Given the description of an element on the screen output the (x, y) to click on. 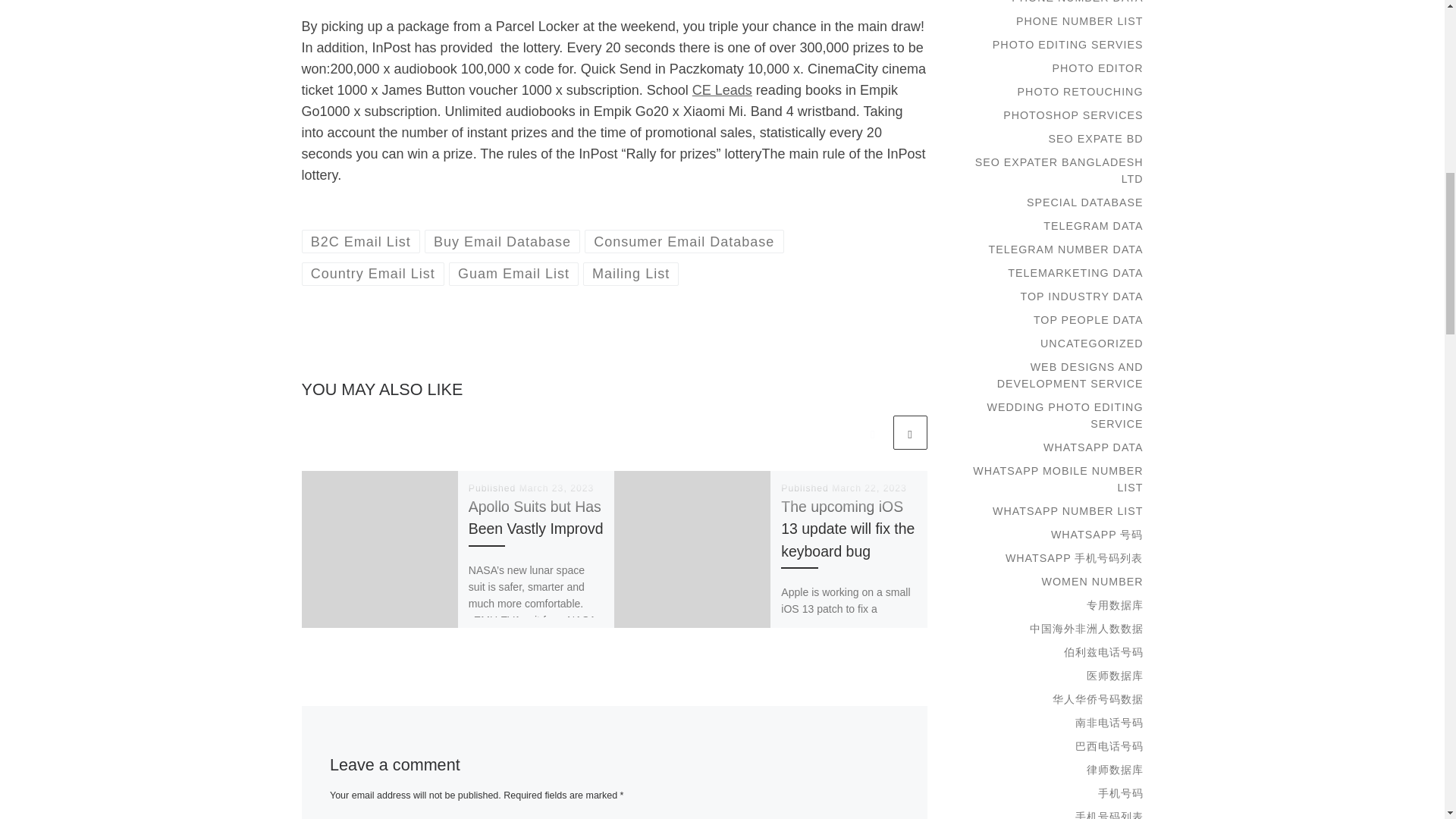
The upcoming iOS 13 update will fix the keyboard bug (847, 527)
View all posts in Mailing List (631, 273)
Buy Email Database (502, 241)
B2C Email List (360, 241)
CE Leads (722, 89)
View all posts in Consumer Email Database (684, 241)
View all posts in B2C Email List (360, 241)
Previous related articles (872, 432)
Next related articles (910, 432)
View all posts in Country Email List (373, 273)
March 22, 2023 (869, 488)
Country Email List (373, 273)
Apollo Suits but Has Been Vastly Improvd (536, 517)
View all posts in Guam Email List (513, 273)
Consumer Email Database (684, 241)
